Given the description of an element on the screen output the (x, y) to click on. 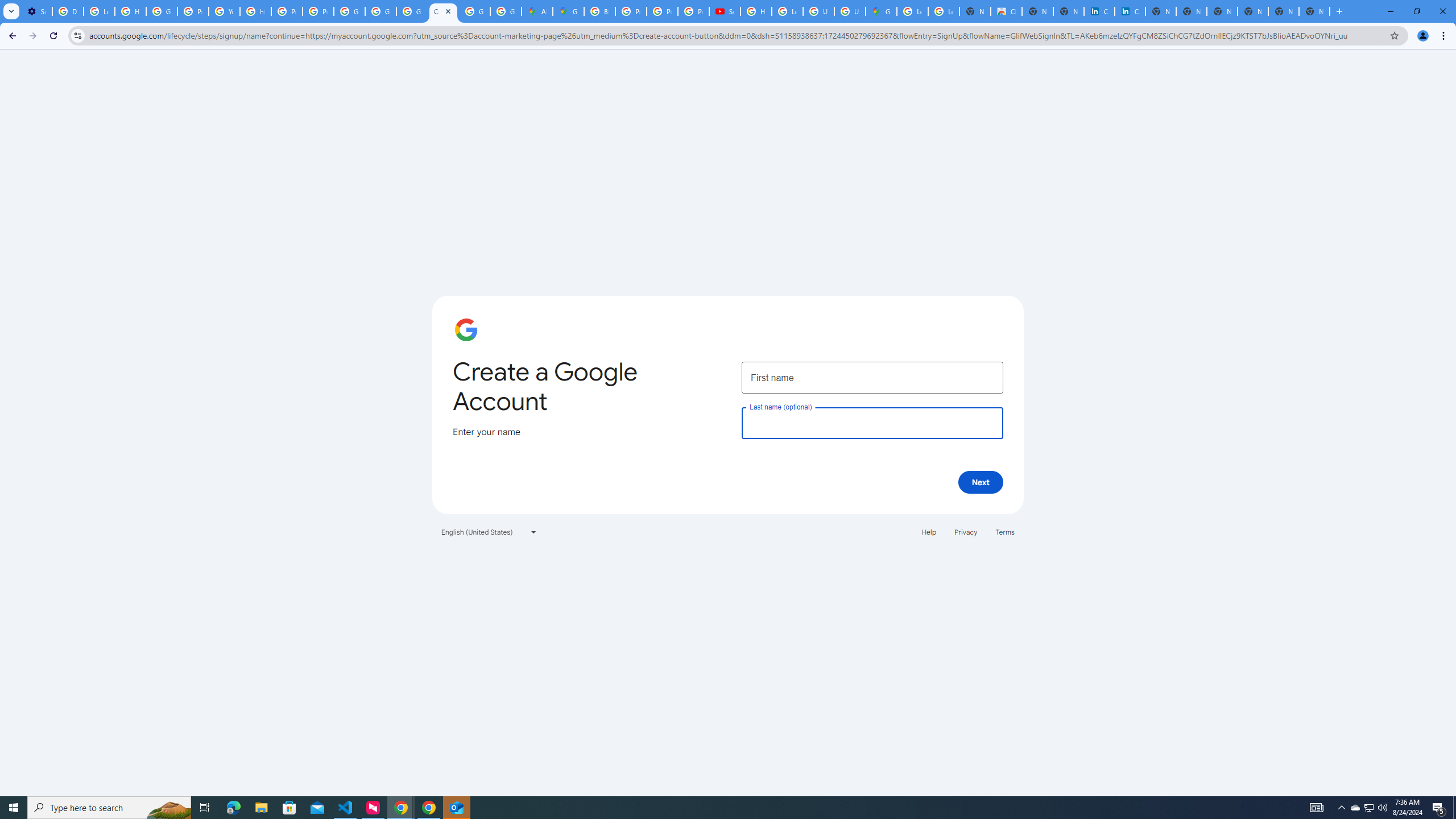
Privacy Help Center - Policies Help (631, 11)
New Tab (1314, 11)
Last name (optional) (871, 422)
Cookie Policy | LinkedIn (1098, 11)
